Given the description of an element on the screen output the (x, y) to click on. 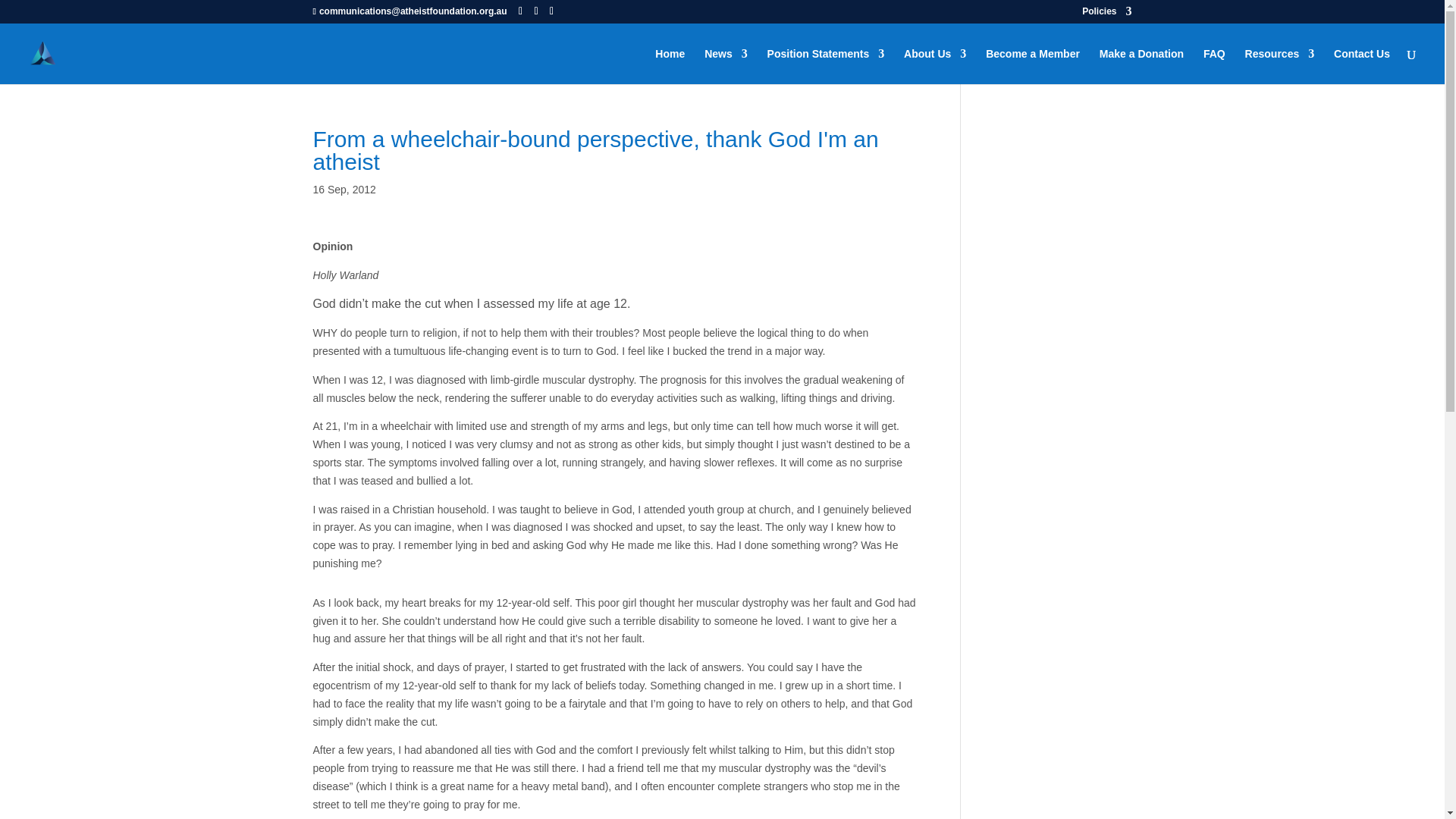
Contact Us (1361, 66)
About Us (935, 66)
Policies (1106, 14)
Become a Member (1032, 66)
Make a Donation (1141, 66)
Position Statements (826, 66)
Resources (1279, 66)
News (726, 66)
